Given the description of an element on the screen output the (x, y) to click on. 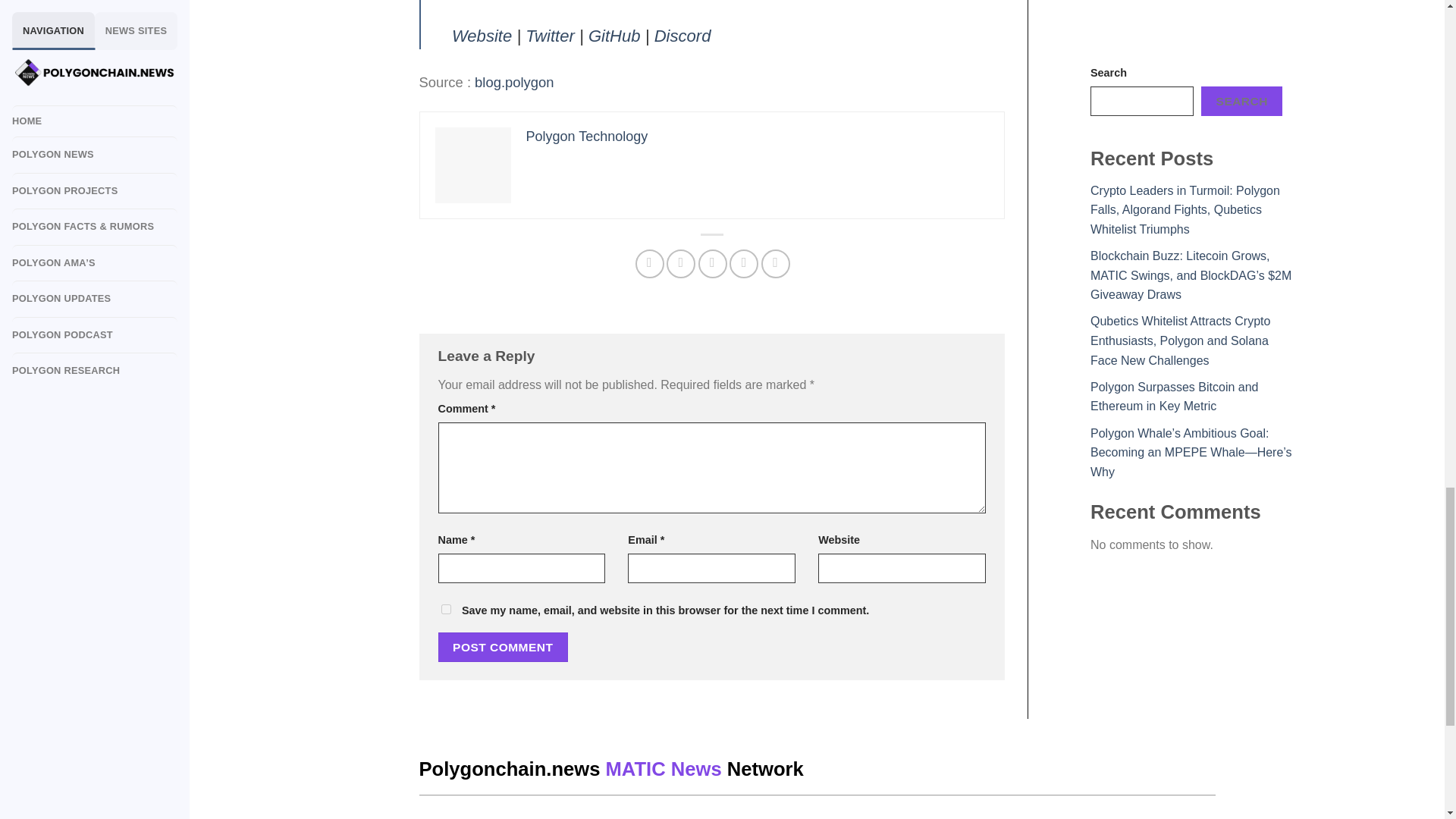
yes (446, 609)
Share on Twitter (680, 263)
Share on LinkedIn (775, 263)
Twitter (550, 35)
GitHub (614, 35)
Website (481, 35)
Post Comment (503, 646)
Pin on Pinterest (743, 263)
Post Comment (503, 646)
Share on Facebook (648, 263)
Email to a Friend (712, 263)
Discord (682, 35)
Polygon Technology (586, 136)
blog.polygon (513, 82)
